Given the description of an element on the screen output the (x, y) to click on. 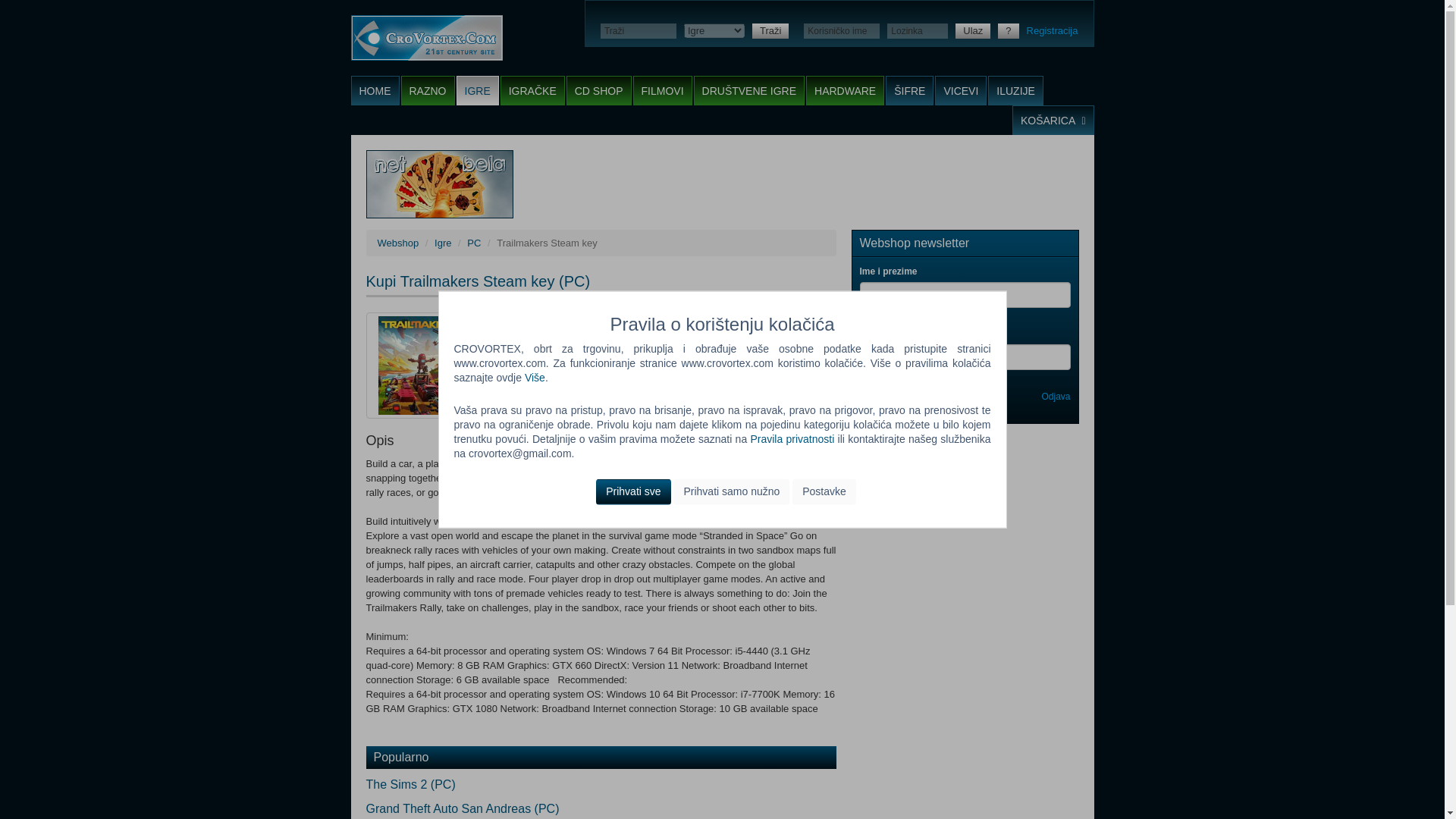
Registracija (1052, 30)
? (1007, 30)
RAZNO (427, 90)
CroVortex (426, 37)
Ulaz (972, 30)
HOME (374, 90)
IGRE (478, 90)
